Given the description of an element on the screen output the (x, y) to click on. 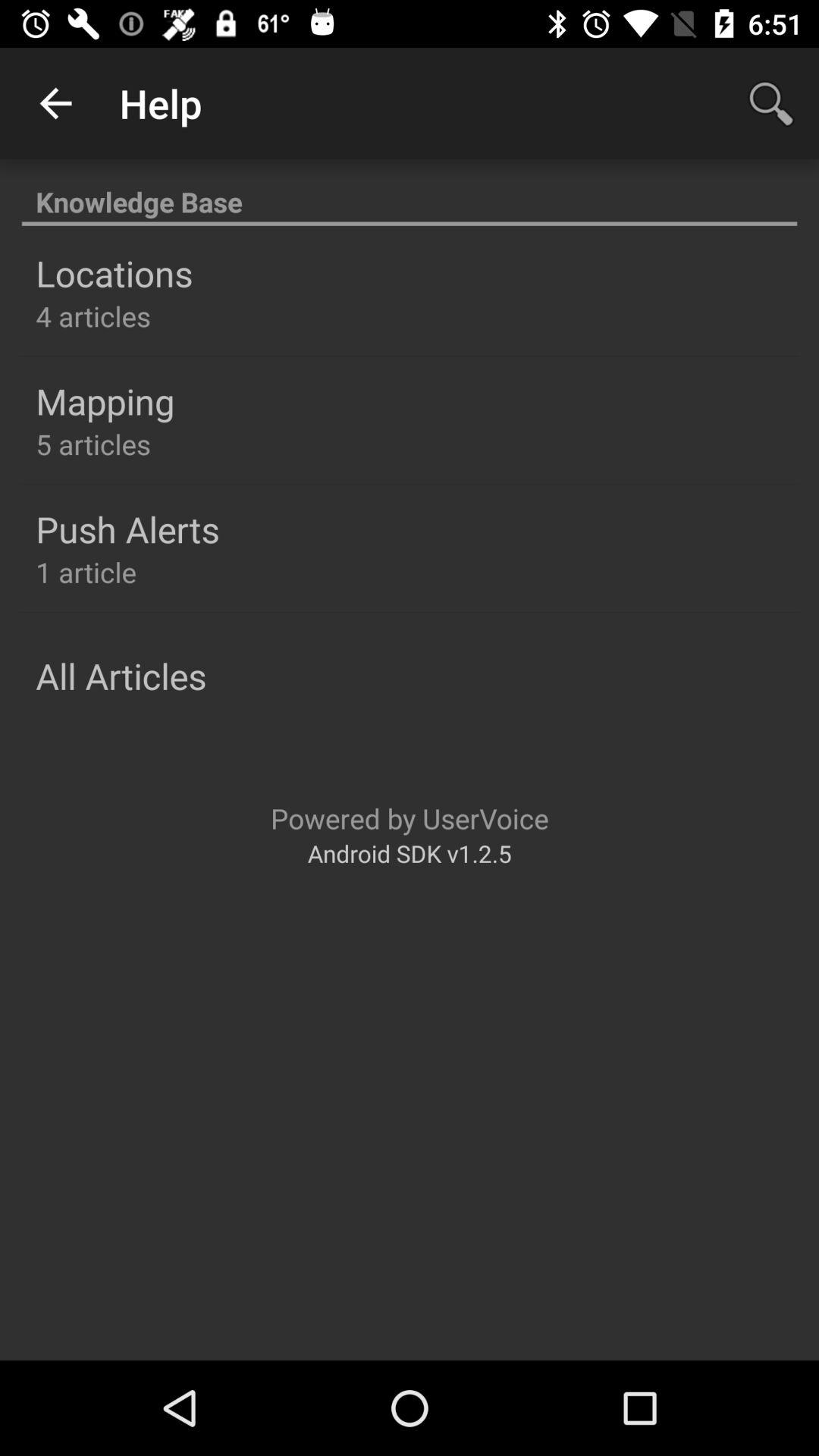
select the 1 article icon (85, 571)
